Given the description of an element on the screen output the (x, y) to click on. 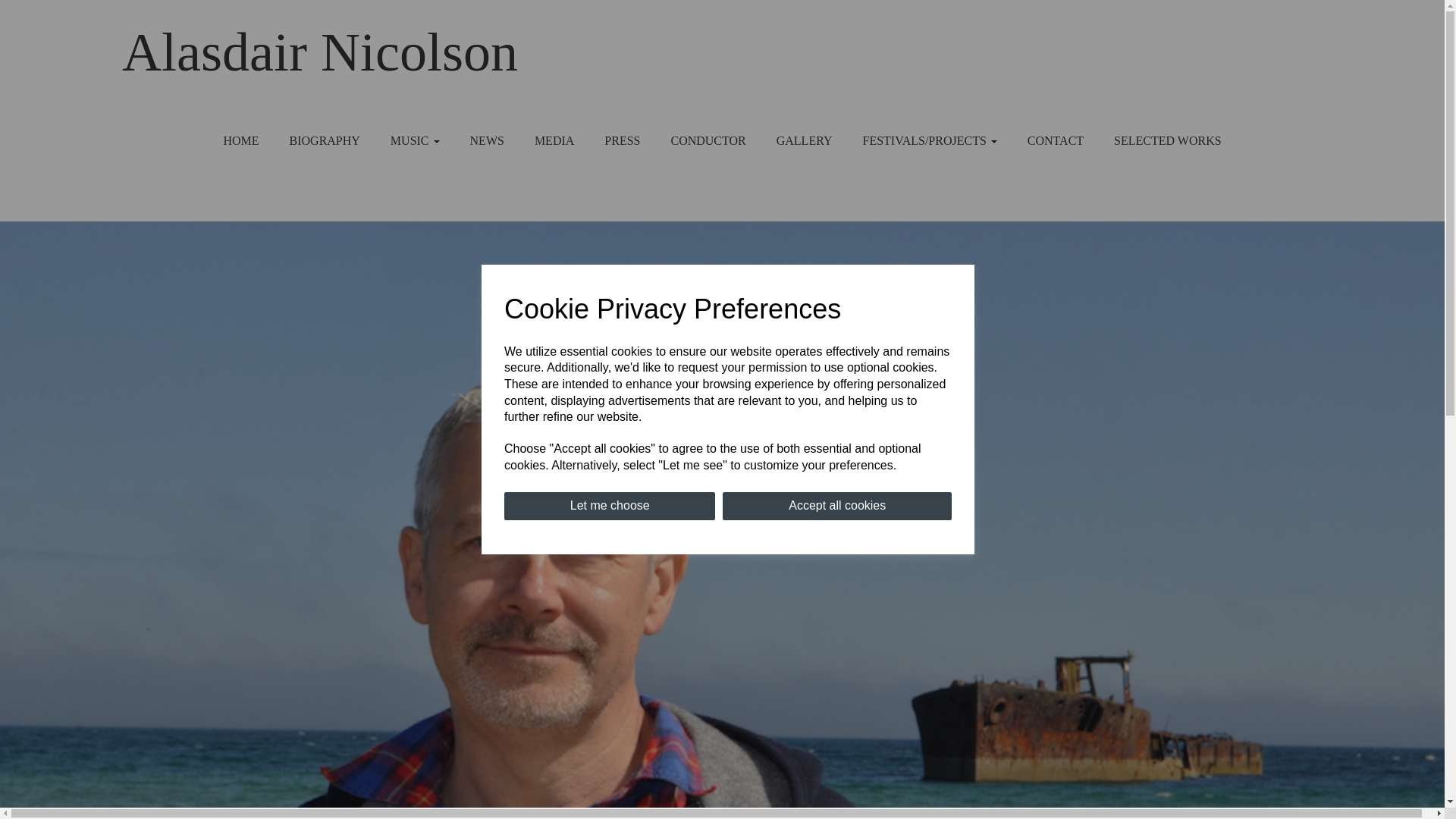
MUSIC (414, 140)
CONDUCTOR (707, 140)
BIOGRAPHY (325, 140)
CONTACT (1055, 140)
SELECTED WORKS (1167, 140)
NEWS (486, 140)
MEDIA (554, 140)
Let me choose (608, 506)
Accept all cookies (837, 506)
GALLERY (804, 140)
